Given the description of an element on the screen output the (x, y) to click on. 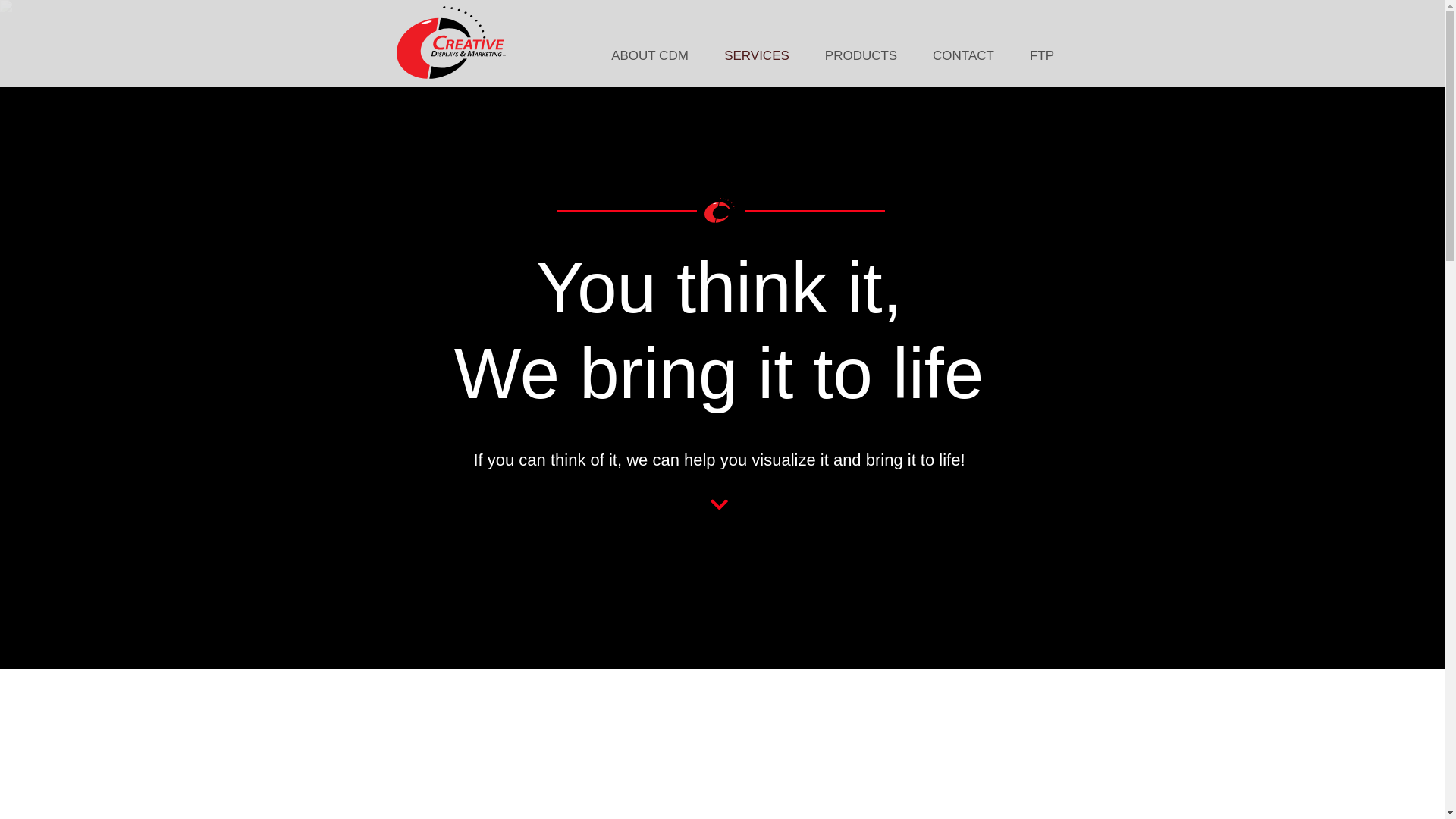
PRODUCTS (860, 55)
FTP (1041, 55)
CONTACT (962, 55)
ABOUT CDM (649, 55)
SERVICES (757, 55)
